Given the description of an element on the screen output the (x, y) to click on. 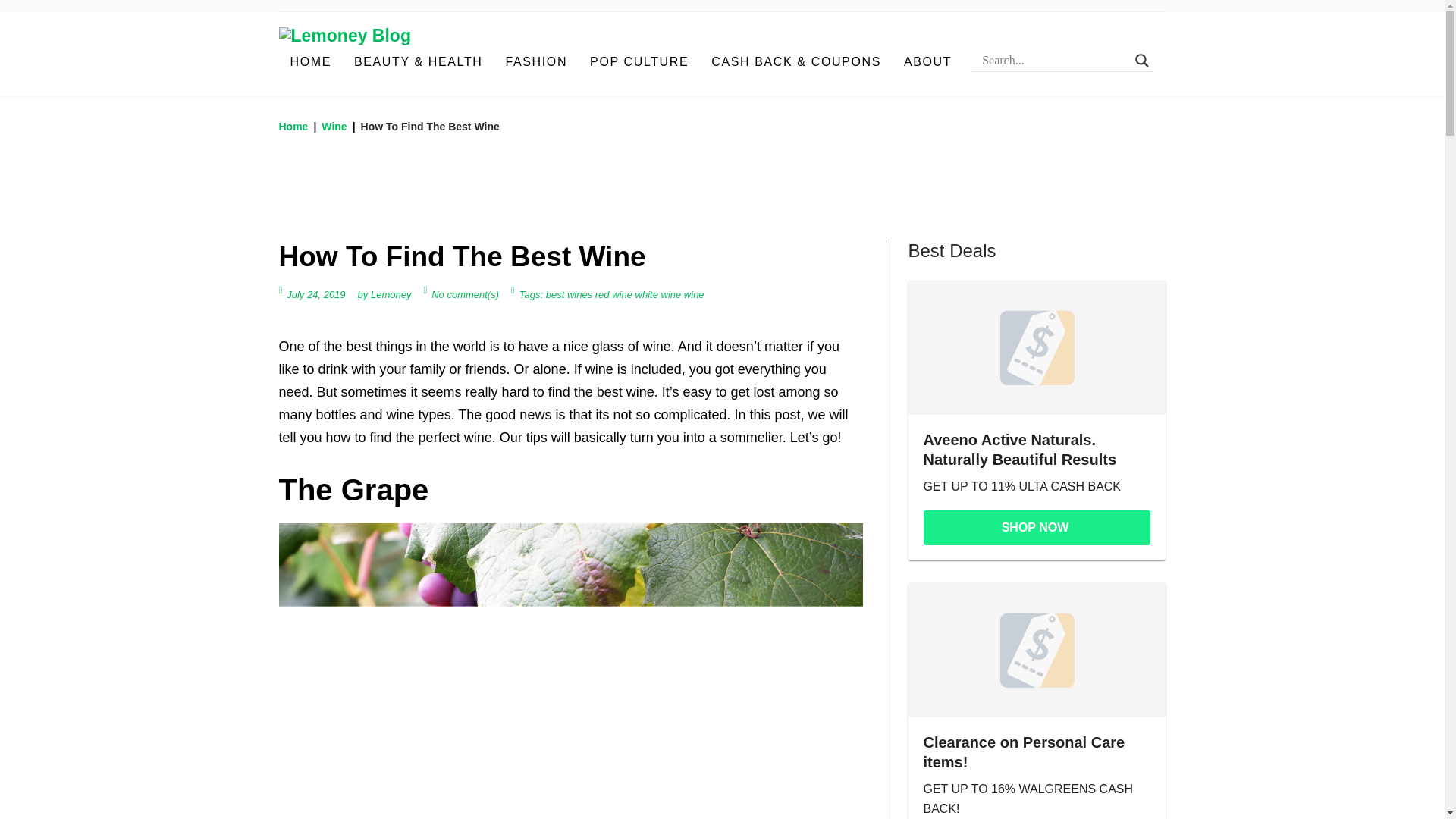
July 24, 2019 (315, 294)
POP CULTURE (638, 62)
Home (293, 126)
ABOUT (928, 62)
Wine (333, 126)
red wine (613, 294)
best wines (569, 294)
wine (694, 294)
Lemoney (390, 294)
Wine (333, 126)
